Given the description of an element on the screen output the (x, y) to click on. 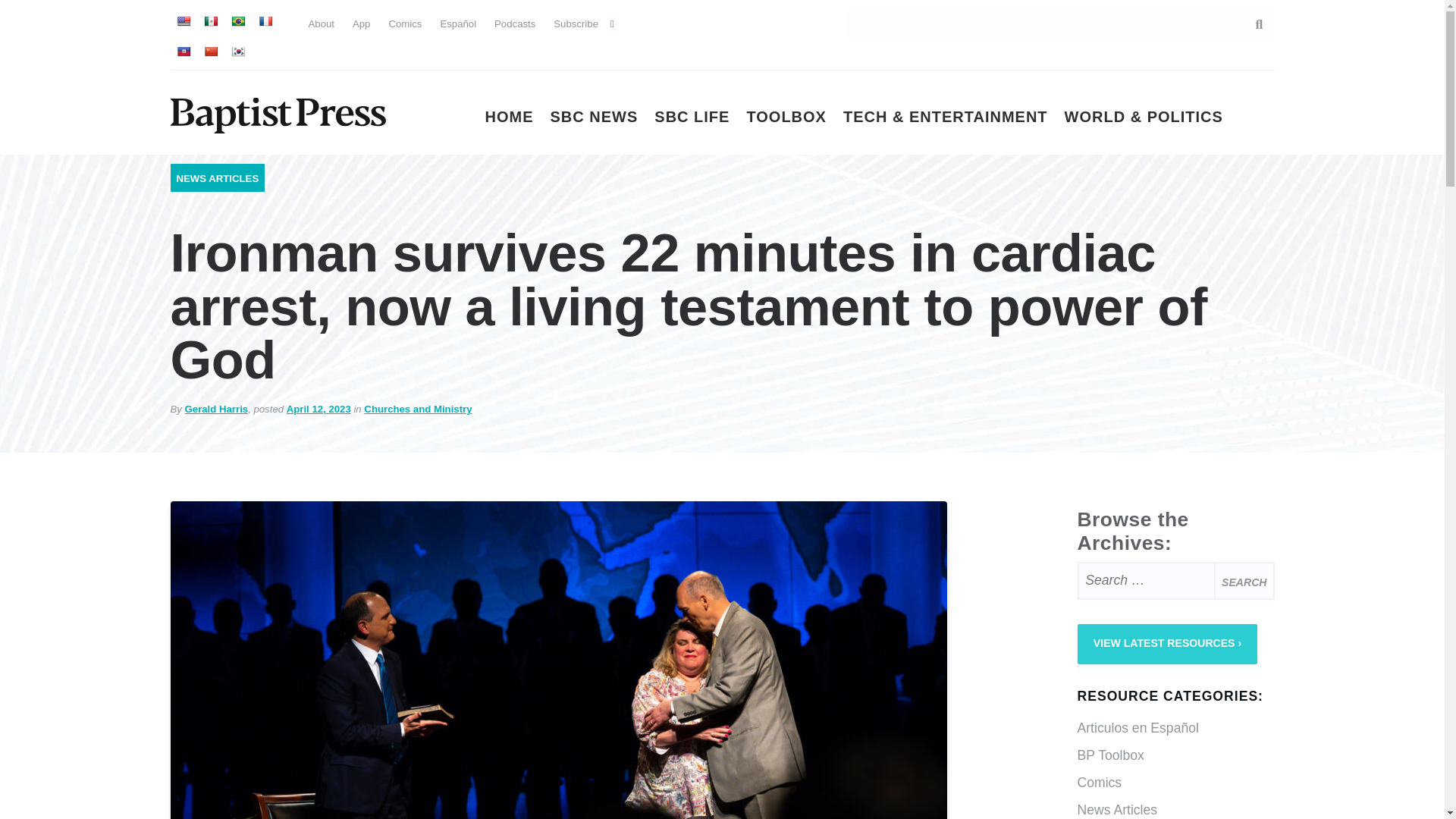
April 12, 2023 (318, 408)
SBC NEWS (594, 116)
Podcasts (515, 23)
Gerald Harris (216, 408)
Portuguese (237, 21)
Search (1244, 580)
Search (1244, 580)
Comics (405, 23)
HOME (509, 116)
Search (1251, 24)
French (263, 21)
